Given the description of an element on the screen output the (x, y) to click on. 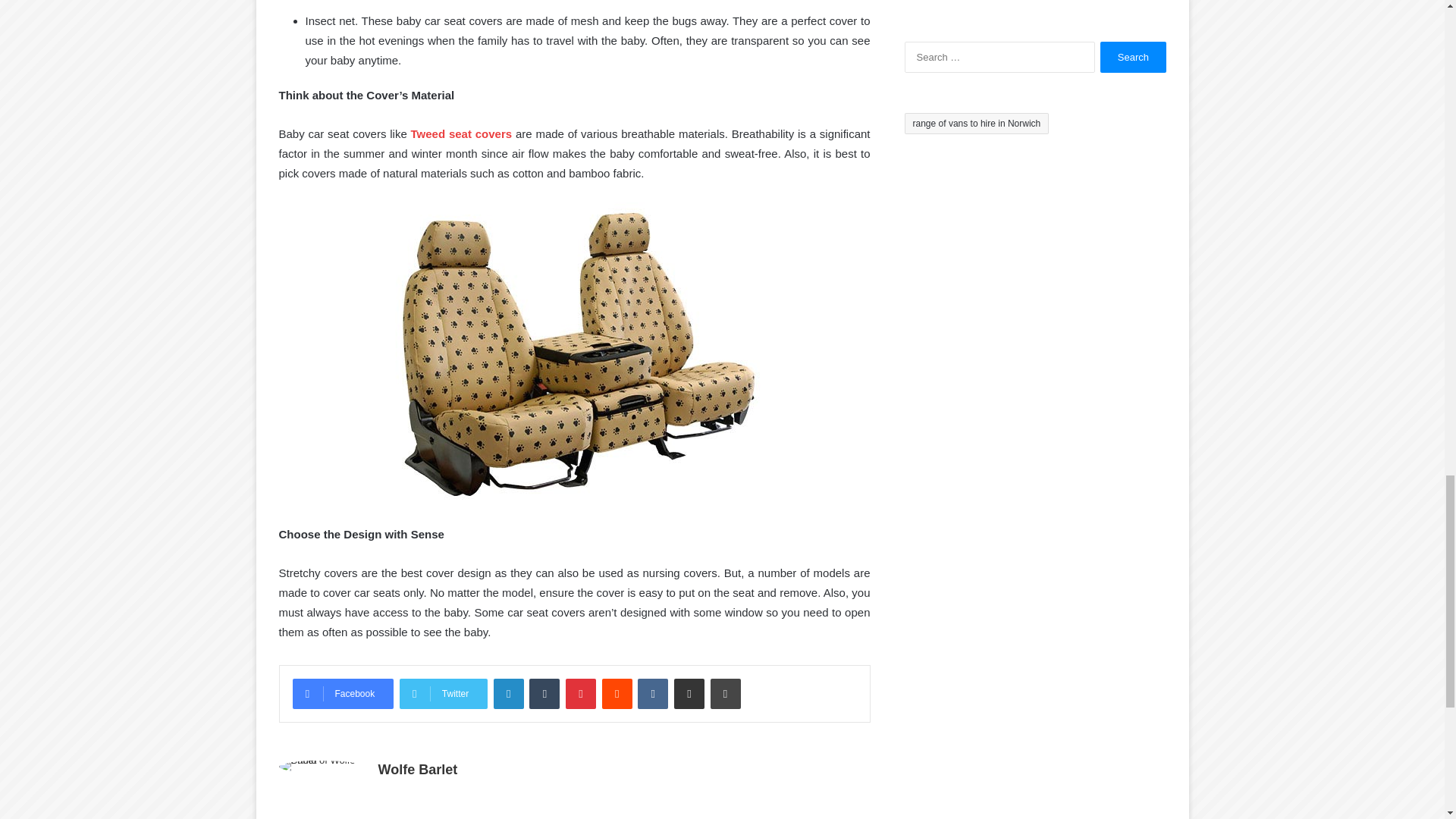
Search (1133, 56)
Tumblr (544, 693)
Facebook (343, 693)
Wolfe Barlet (417, 769)
Tumblr (544, 693)
Search (1133, 56)
Twitter (442, 693)
Share via Email (689, 693)
VKontakte (652, 693)
Pinterest (580, 693)
